Given the description of an element on the screen output the (x, y) to click on. 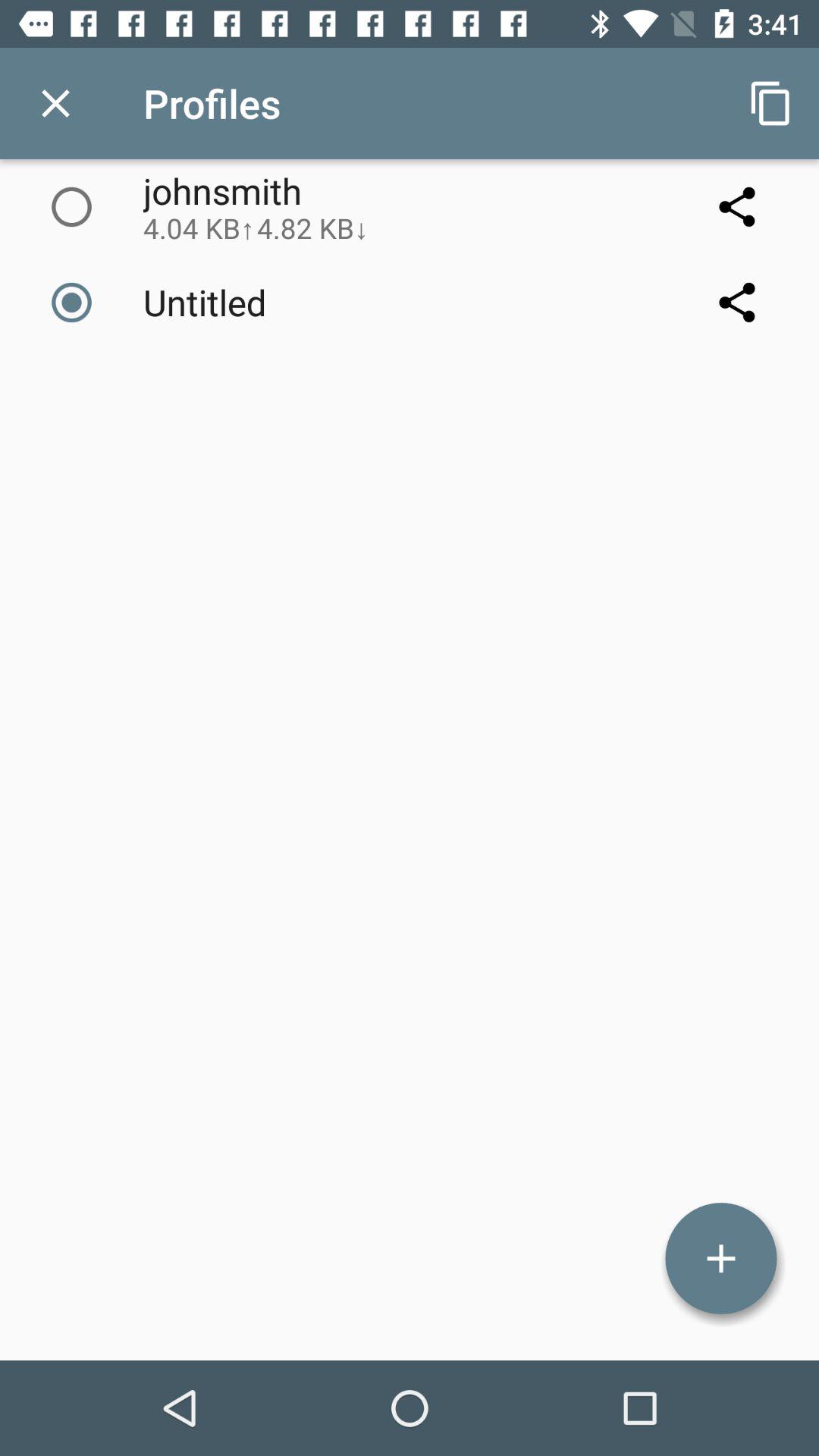
exit (55, 103)
